Given the description of an element on the screen output the (x, y) to click on. 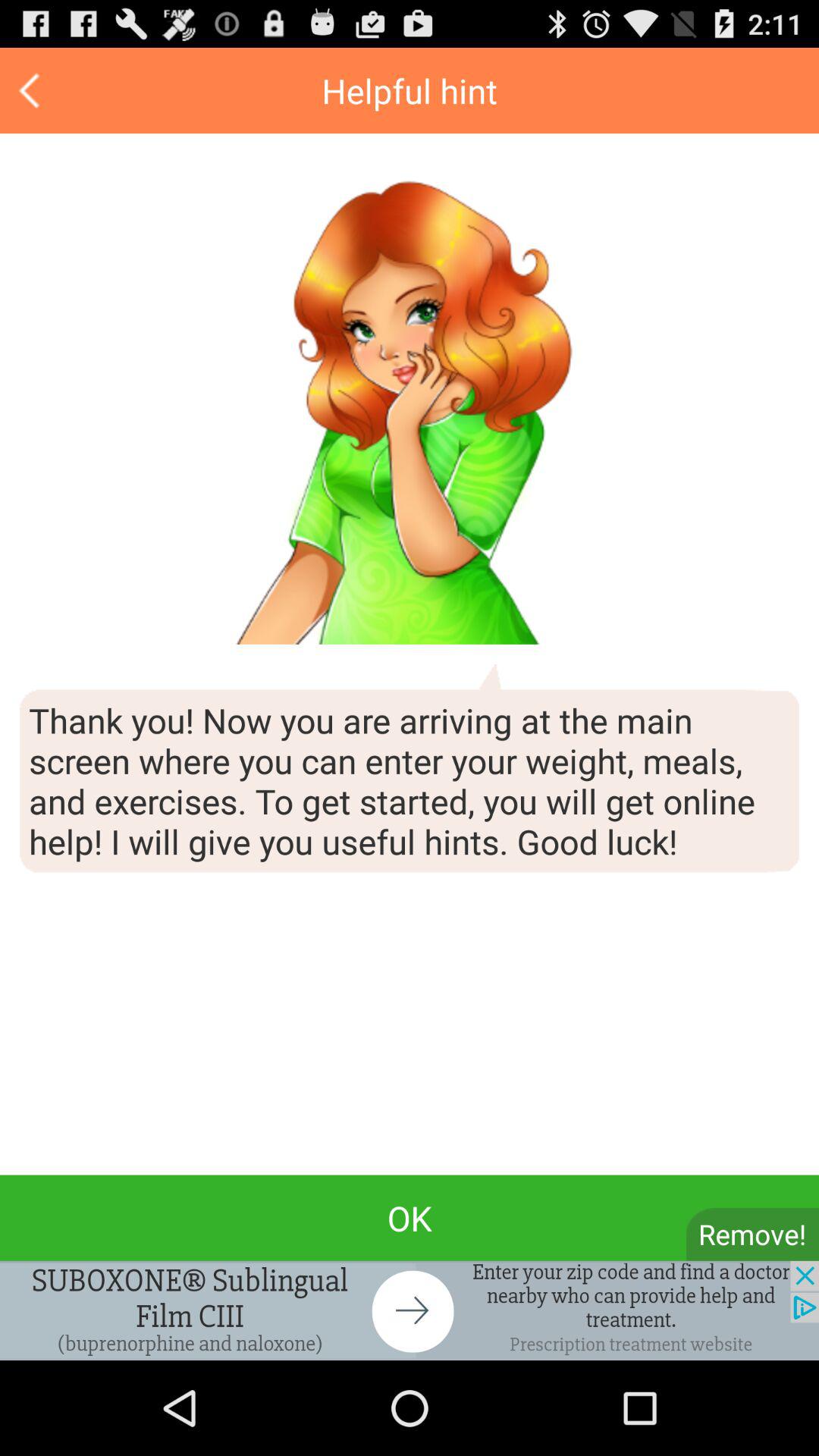
view the advertisement (409, 1310)
